Given the description of an element on the screen output the (x, y) to click on. 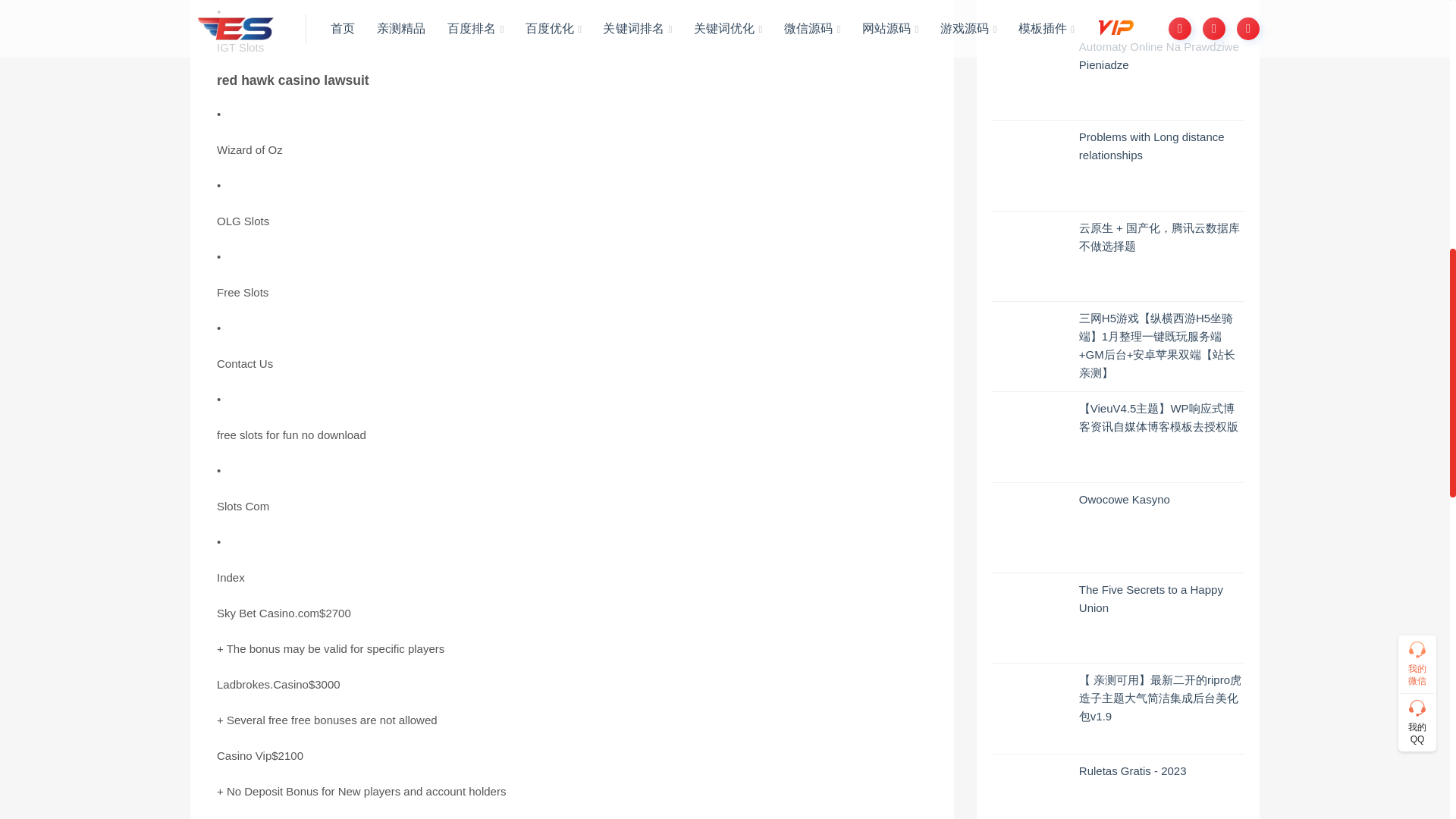
Ruletas Gratis - 2023 (1132, 770)
Automaty Online Na Prawdziwe Pieniadze (1158, 55)
Problems with Long distance relationships (1151, 145)
The Five Secrets to a Happy Union (1150, 598)
Owocowe Kasyno (1124, 499)
